Given the description of an element on the screen output the (x, y) to click on. 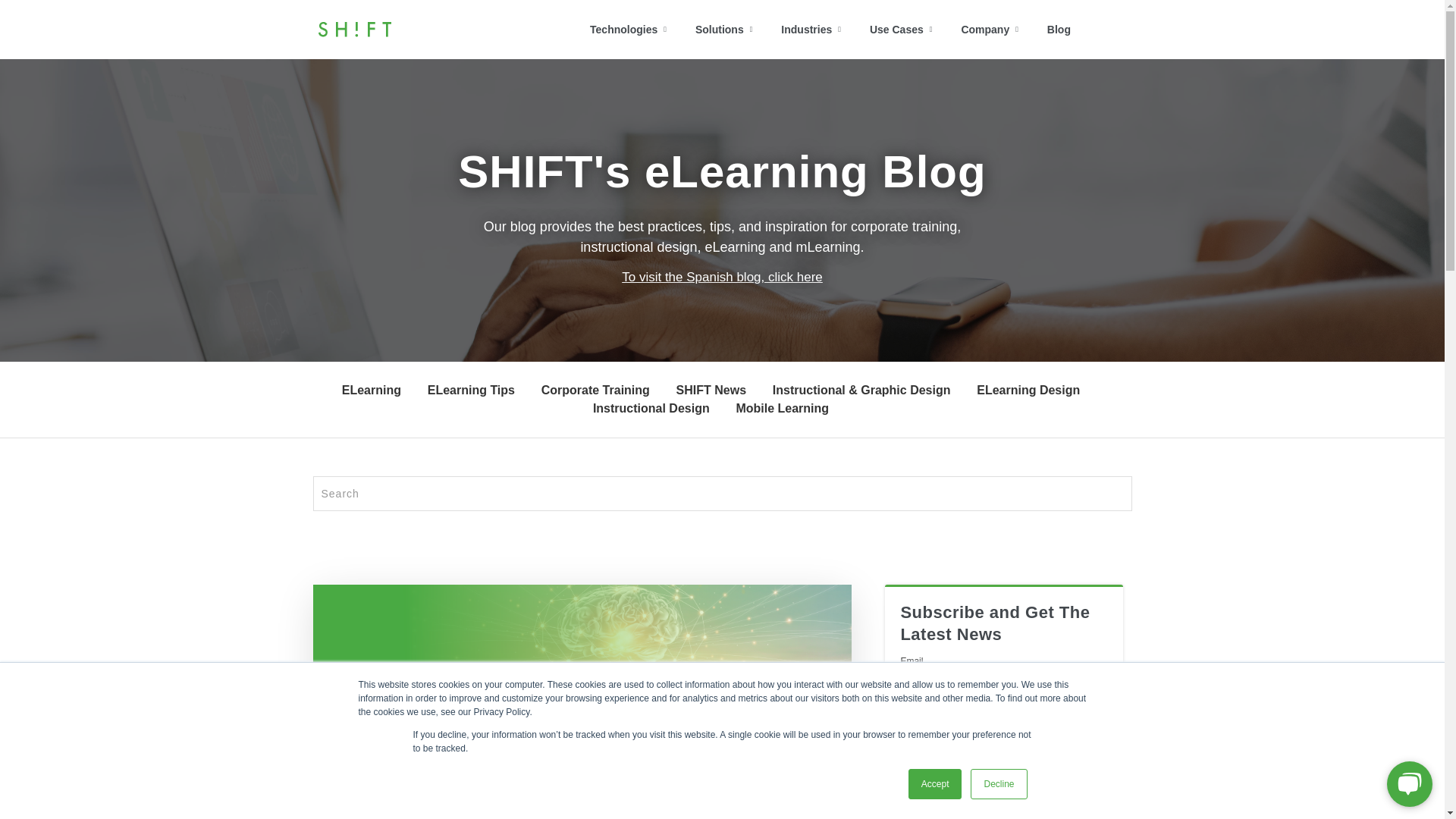
Accept (935, 784)
weekly (907, 761)
Industries (811, 29)
Corporate Training (595, 390)
Company (989, 29)
instant (907, 739)
Solutions (724, 29)
SHIFT News (711, 390)
shift-logo-2021 (354, 29)
ELearning Tips (471, 390)
To visit the Spanish blog, click here (721, 277)
ELearning (371, 390)
Technologies (628, 29)
Use Cases (901, 29)
Decline (998, 784)
